Given the description of an element on the screen output the (x, y) to click on. 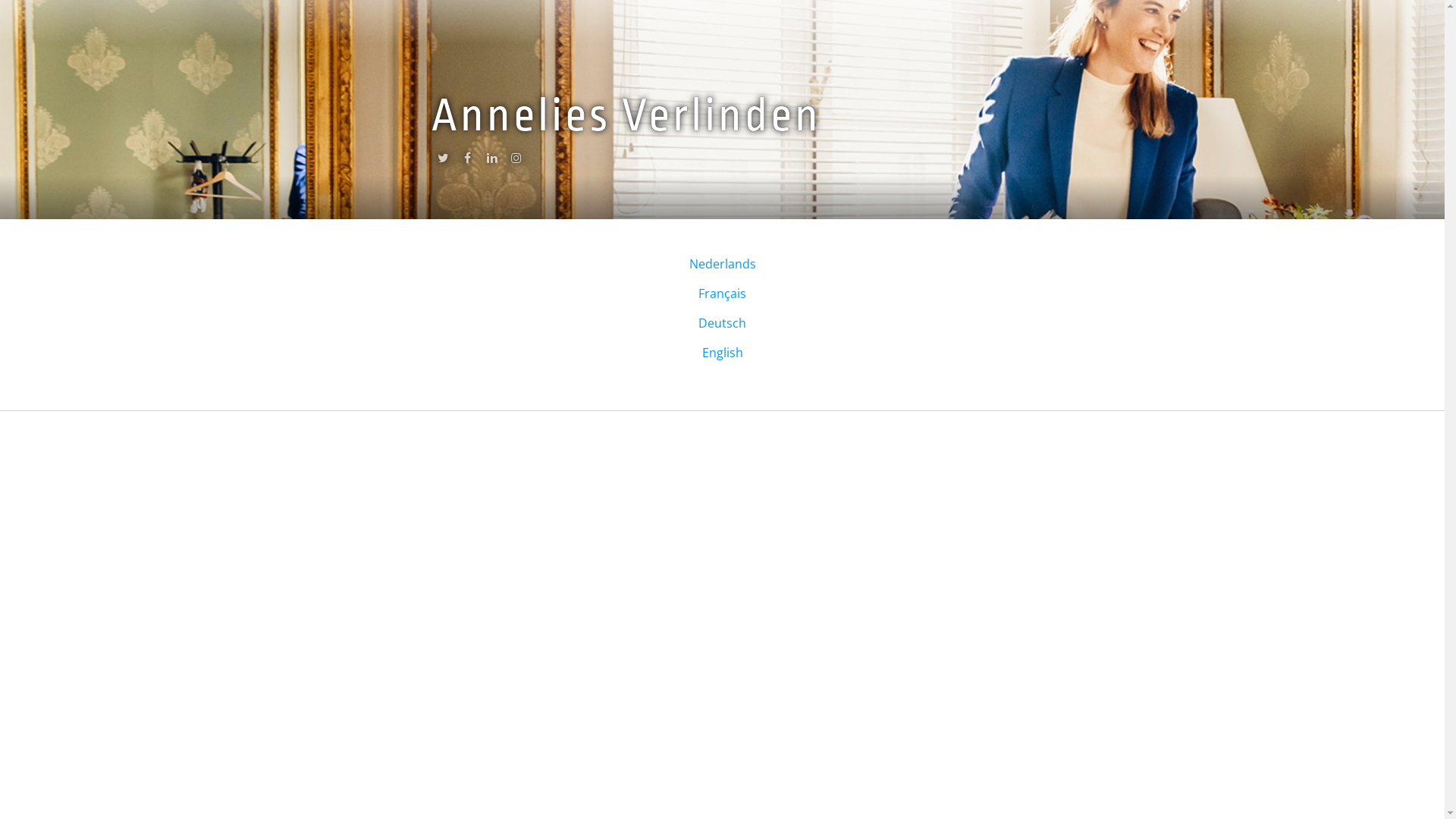
Deutsch Element type: text (722, 322)
Skip to main content Element type: text (59, 0)
facebook Element type: text (467, 161)
twitter Element type: text (442, 161)
Annelies Verlinden Element type: text (625, 115)
linkedin Element type: text (491, 161)
English Element type: text (722, 352)
instagram Element type: text (515, 161)
Nederlands Element type: text (721, 263)
